Given the description of an element on the screen output the (x, y) to click on. 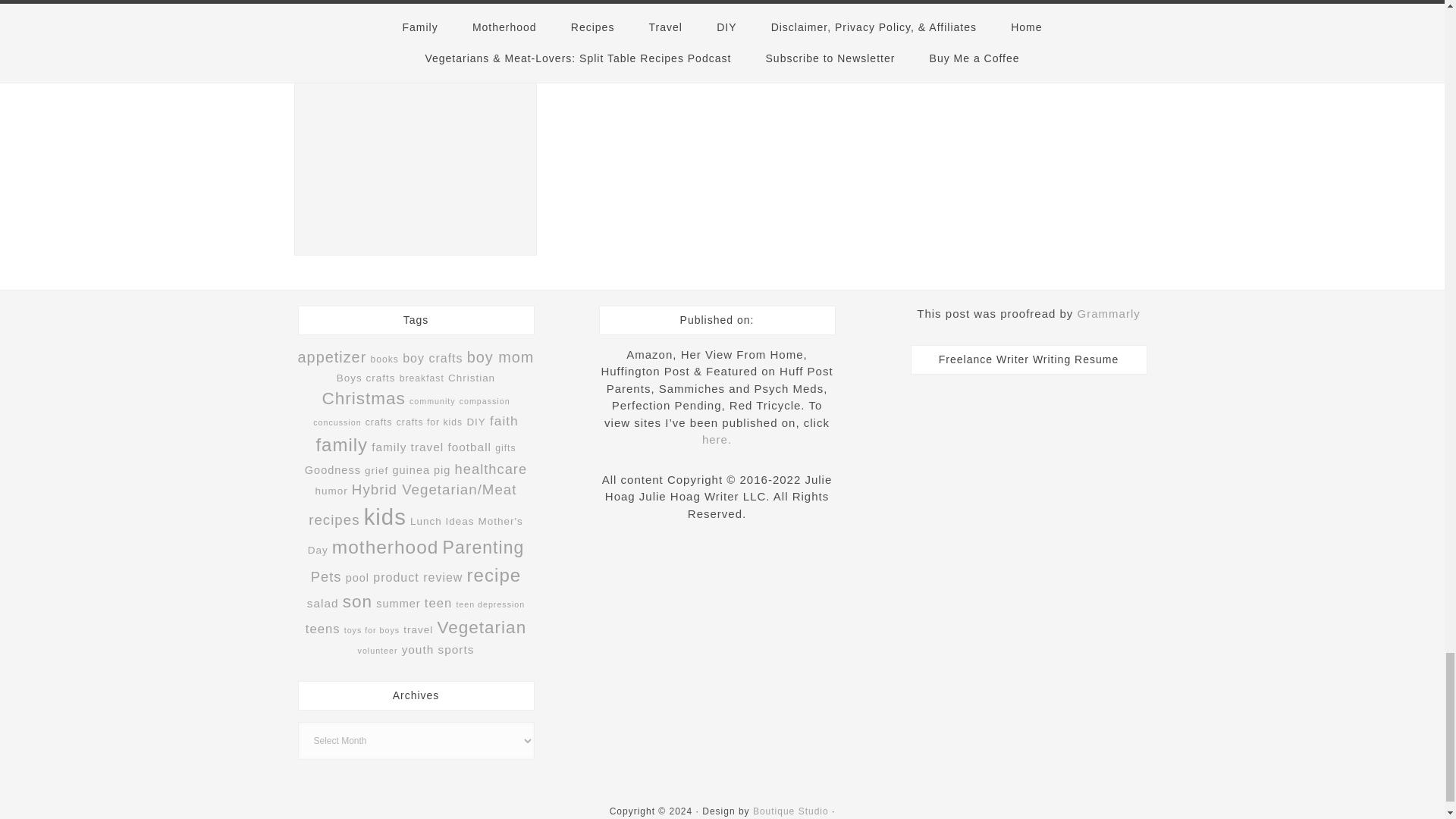
Boutique Studio (790, 810)
